Given the description of an element on the screen output the (x, y) to click on. 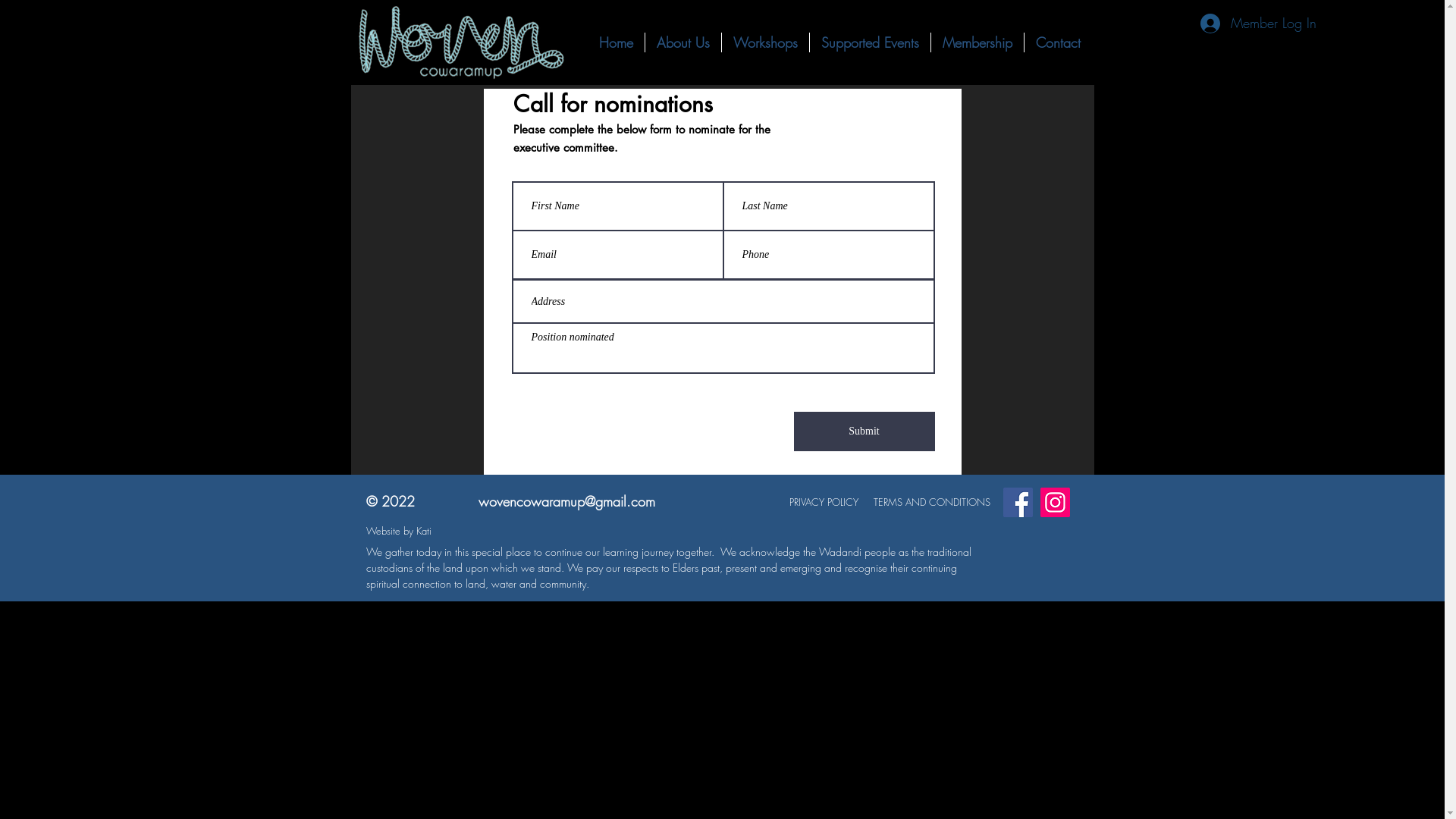
wovencowaramup@gmail.com Element type: text (565, 501)
Member Log In Element type: text (1257, 23)
Website by Kati Element type: text (397, 530)
PRIVACY POLICY Element type: text (822, 501)
Home Element type: text (614, 42)
Membership Element type: text (977, 42)
Workshops Element type: text (765, 42)
TERMS AND CONDITIONS Element type: text (931, 501)
About Us Element type: text (682, 42)
Supported Events Element type: text (869, 42)
Contact Element type: text (1057, 42)
Submit Element type: text (863, 431)
